Given the description of an element on the screen output the (x, y) to click on. 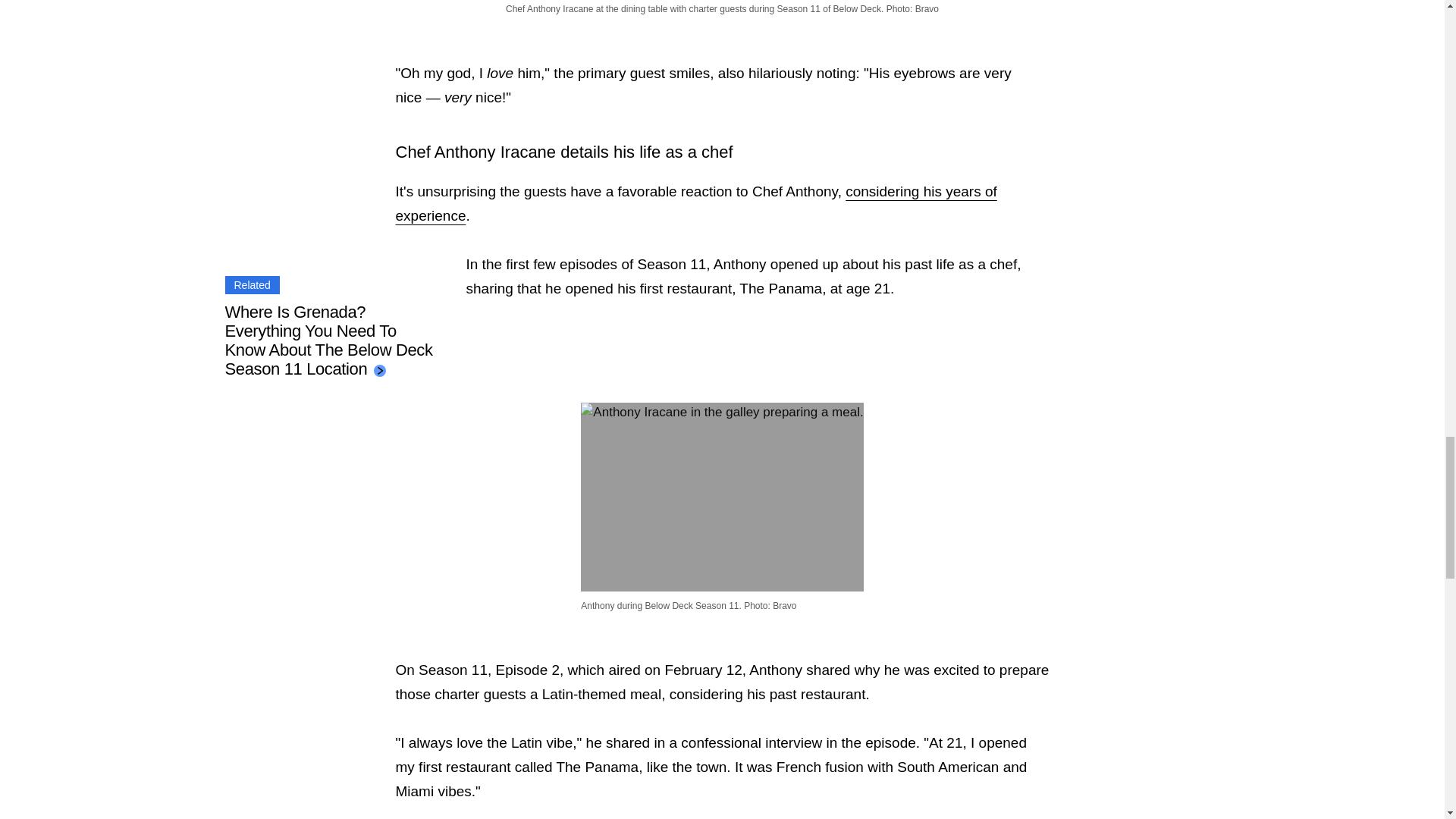
considering his years of experience (696, 203)
